Given the description of an element on the screen output the (x, y) to click on. 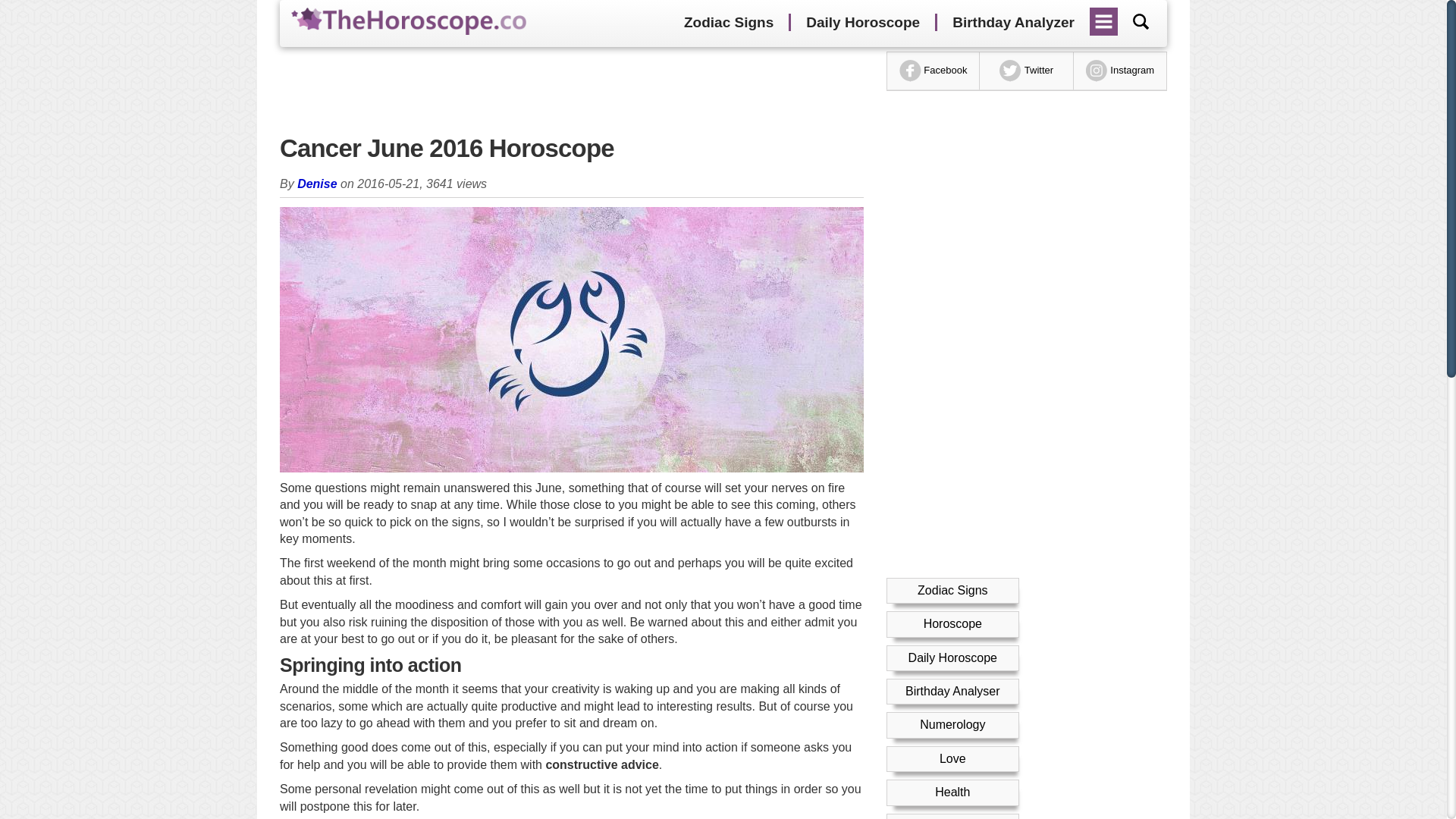
Birthday Analyser (952, 690)
Daily Horoscope (952, 657)
Health (952, 791)
Daily Horoscope (862, 22)
Birthday Analyzer (1013, 22)
Search by your birthday... (1140, 21)
Zodiac Signs (728, 22)
Zodiac Signs (952, 590)
Love (952, 758)
Menu (1104, 16)
Horoscope (952, 623)
Advertisement (571, 88)
Numerology (952, 724)
